Given the description of an element on the screen output the (x, y) to click on. 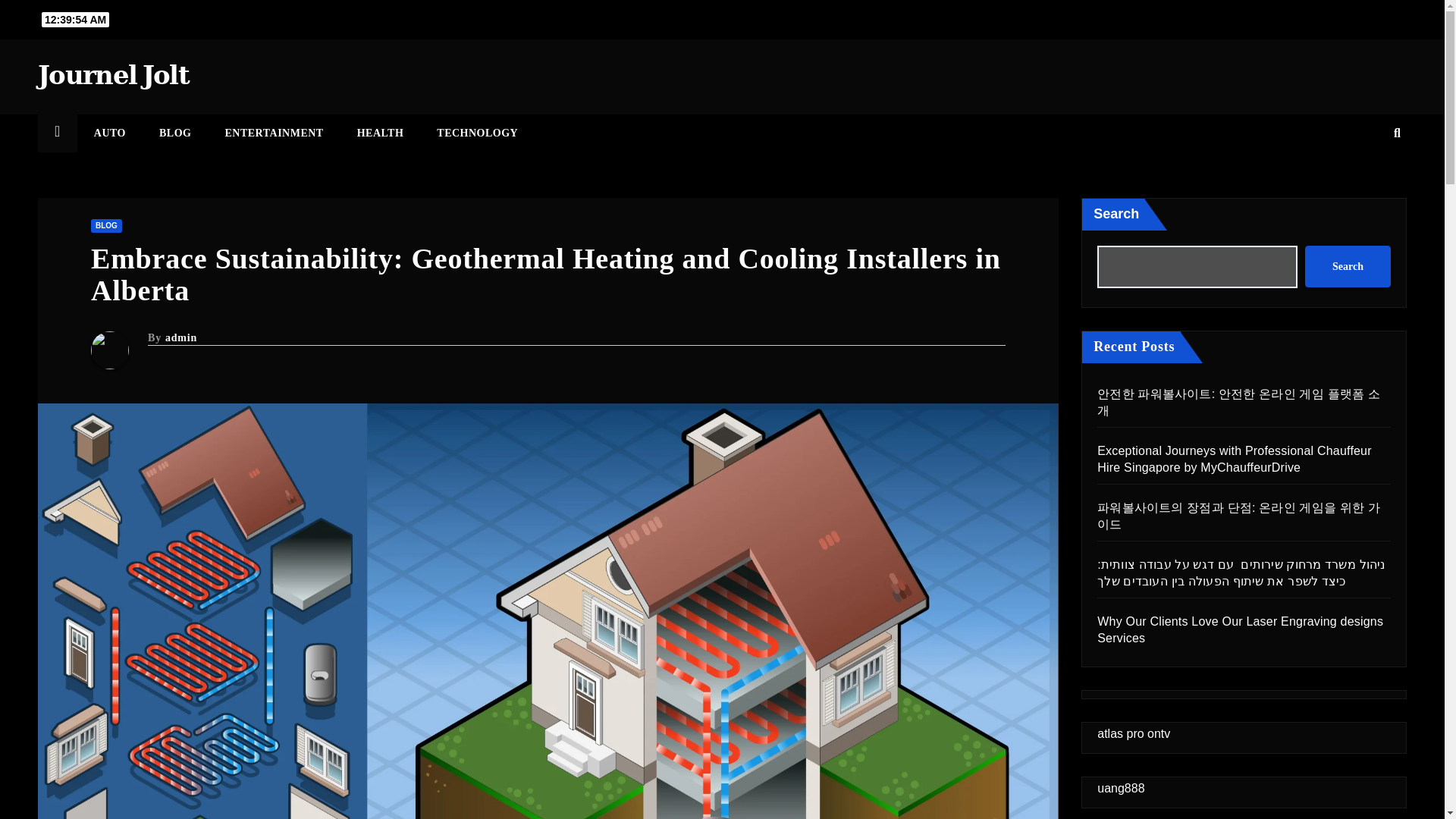
BLOG (106, 225)
BLOG (175, 133)
admin (180, 337)
AUTO (109, 133)
Health (380, 133)
Technology (477, 133)
TECHNOLOGY (477, 133)
Blog (175, 133)
Auto (109, 133)
ENTERTAINMENT (273, 133)
HEALTH (380, 133)
Entertainment (273, 133)
